Given the description of an element on the screen output the (x, y) to click on. 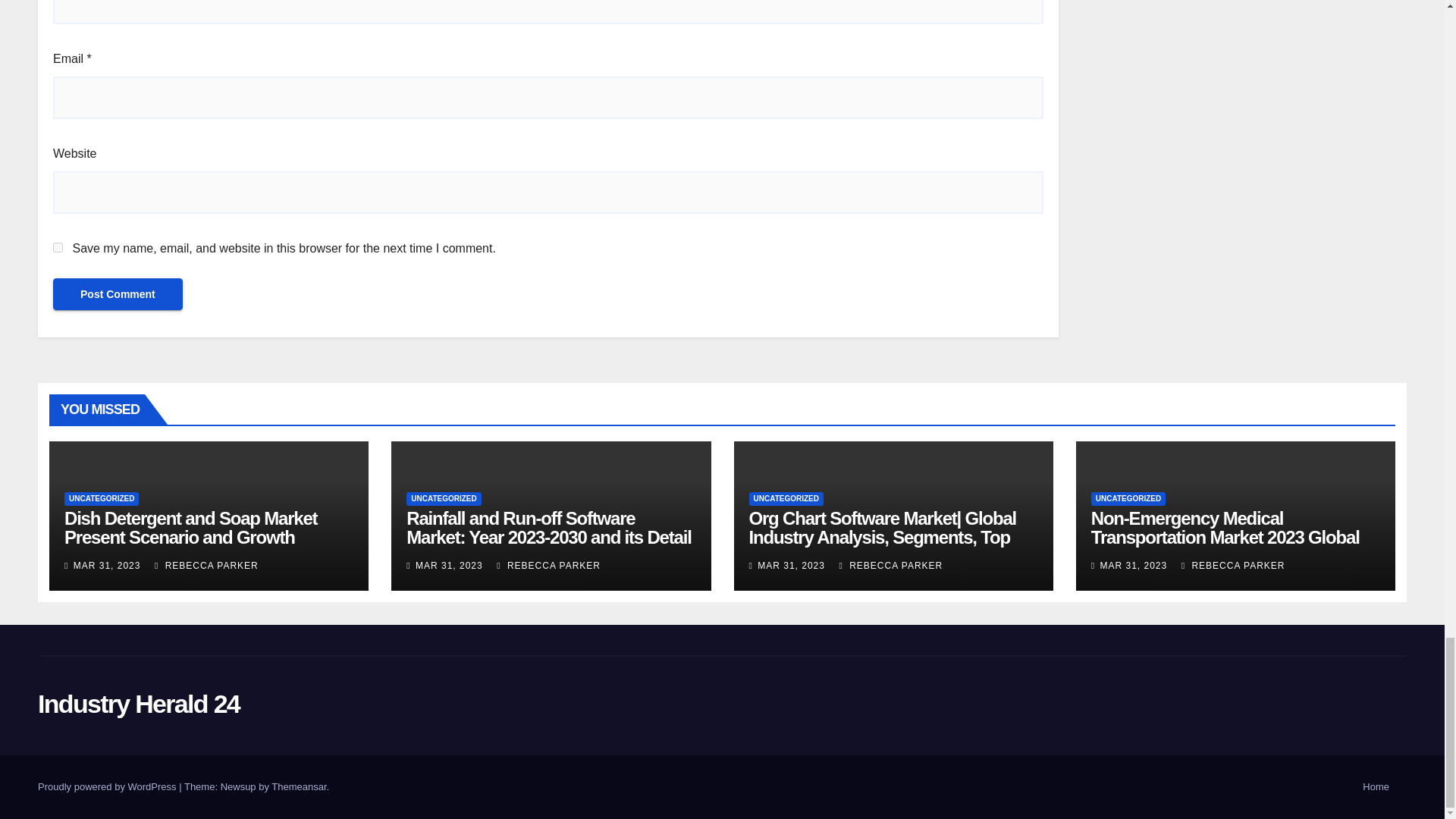
yes (57, 247)
Home (1375, 786)
Post Comment (117, 294)
